Given the description of an element on the screen output the (x, y) to click on. 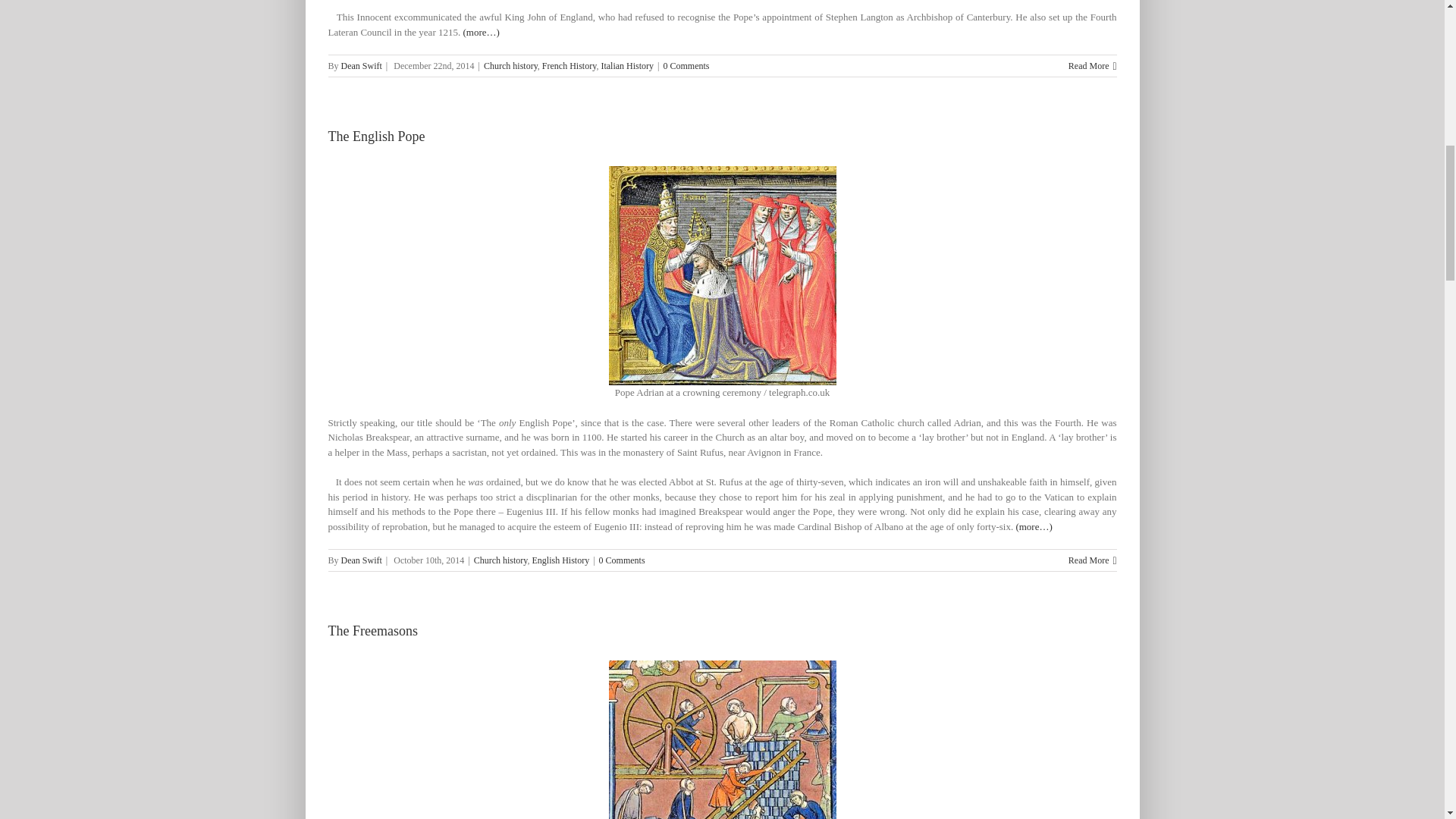
Dean Swift (360, 65)
Posts by Dean Swift (360, 560)
Church history (510, 65)
Posts by Dean Swift (360, 65)
